Given the description of an element on the screen output the (x, y) to click on. 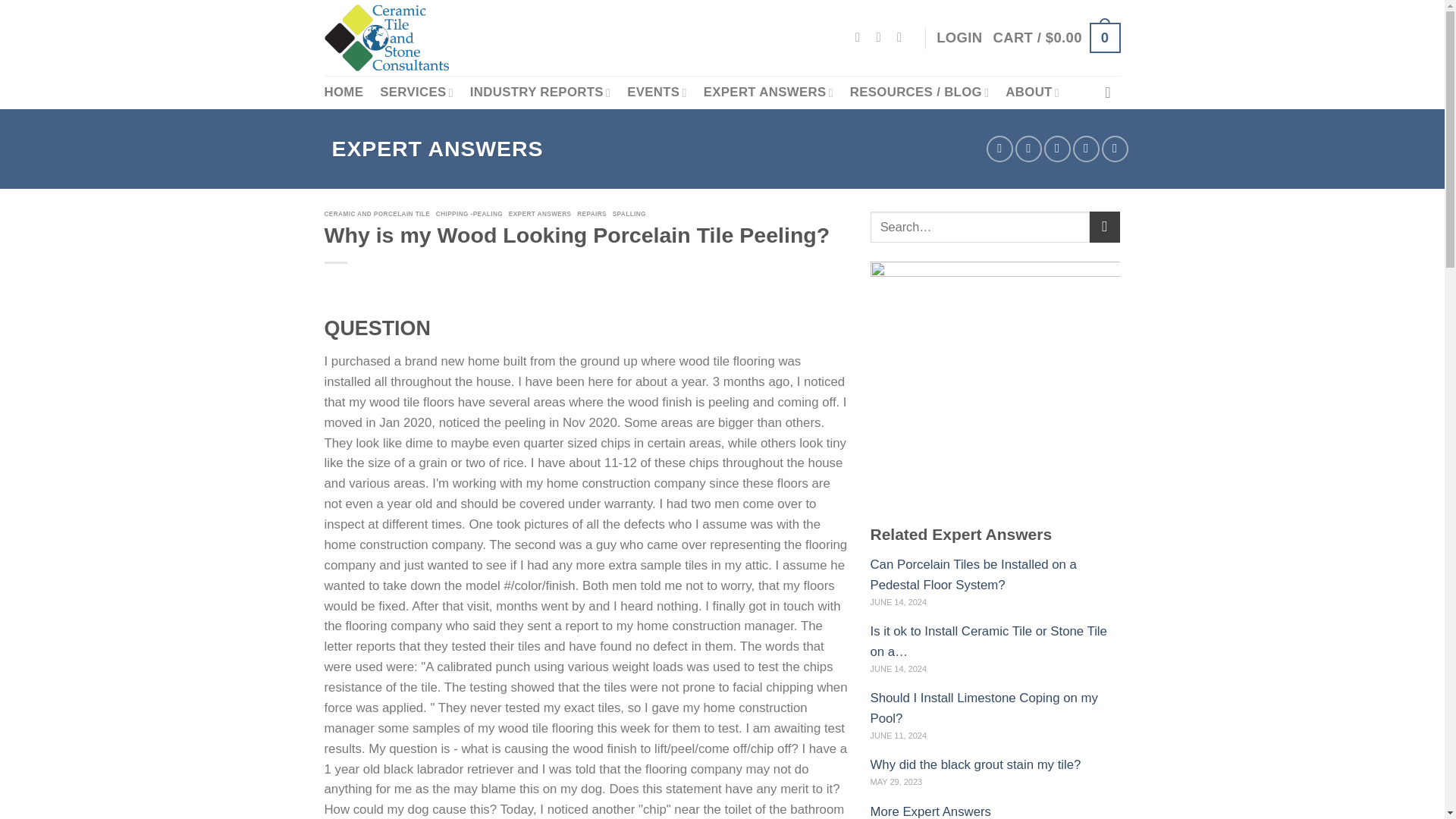
Repairs (593, 213)
Follow on Facebook (861, 37)
Follow on LinkedIn (903, 37)
Share on LinkedIn (1115, 148)
EVENTS (657, 91)
Spalling (630, 213)
Expert Answers (541, 213)
Ceramic and Porcelain Tile (378, 213)
Share on Facebook (1000, 148)
Share on Twitter (1028, 148)
HOME (344, 92)
INDUSTRY REPORTS (540, 91)
SERVICES (416, 91)
Cart (1055, 37)
EXPERT ANSWERS (767, 91)
